Given the description of an element on the screen output the (x, y) to click on. 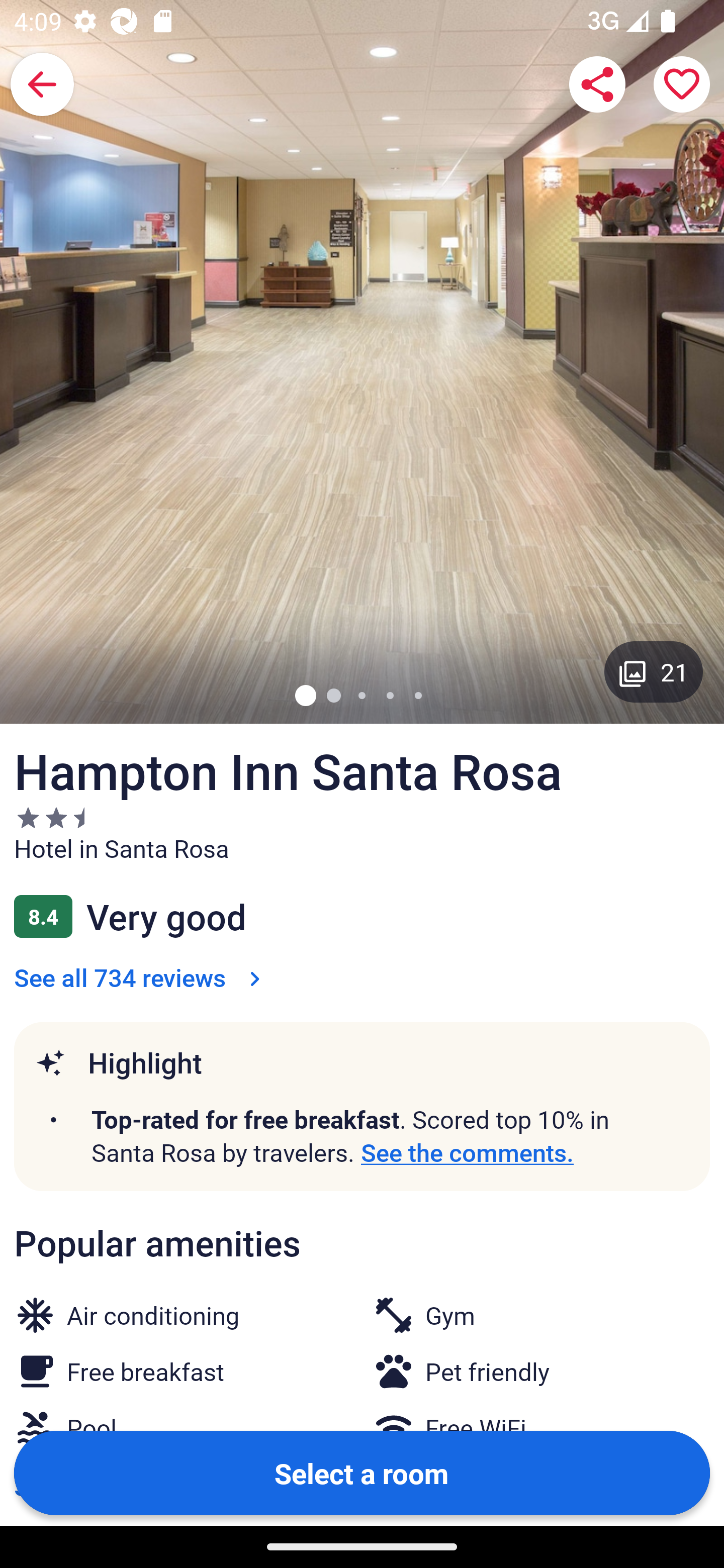
Back (42, 84)
Save property to a trip (681, 84)
Share Hampton Inn Santa Rosa (597, 84)
Gallery button with 21 images (653, 671)
See all 734 reviews See all 734 reviews Link (140, 976)
Select a room Button Select a room (361, 1472)
